Given the description of an element on the screen output the (x, y) to click on. 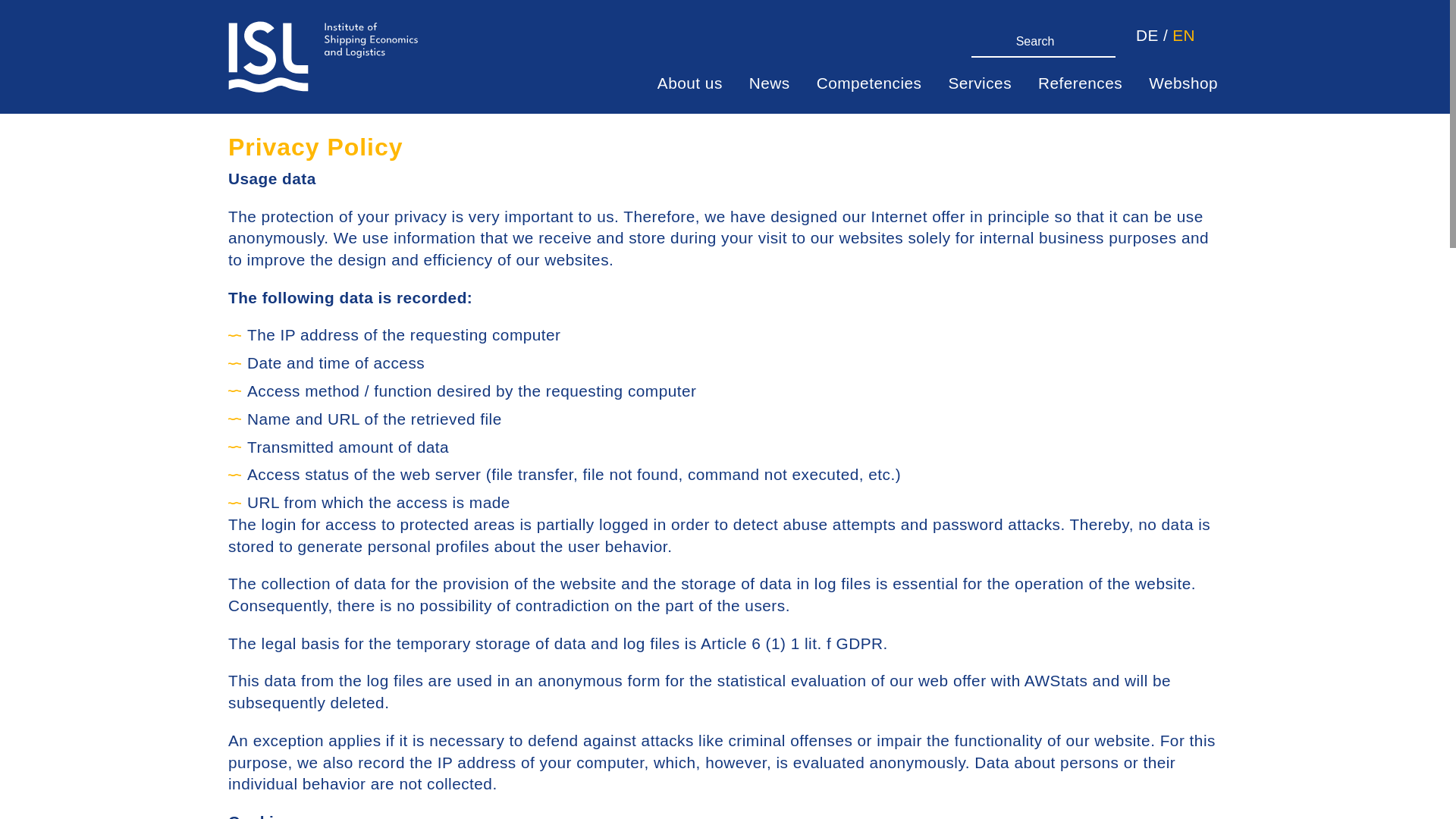
Competencies (869, 83)
Search (1108, 36)
Deutsch (1146, 35)
DE (1146, 35)
Enter the terms you wish to search for. (1036, 41)
Search (1108, 36)
References (1079, 83)
About us (689, 83)
Services (978, 83)
